Given the description of an element on the screen output the (x, y) to click on. 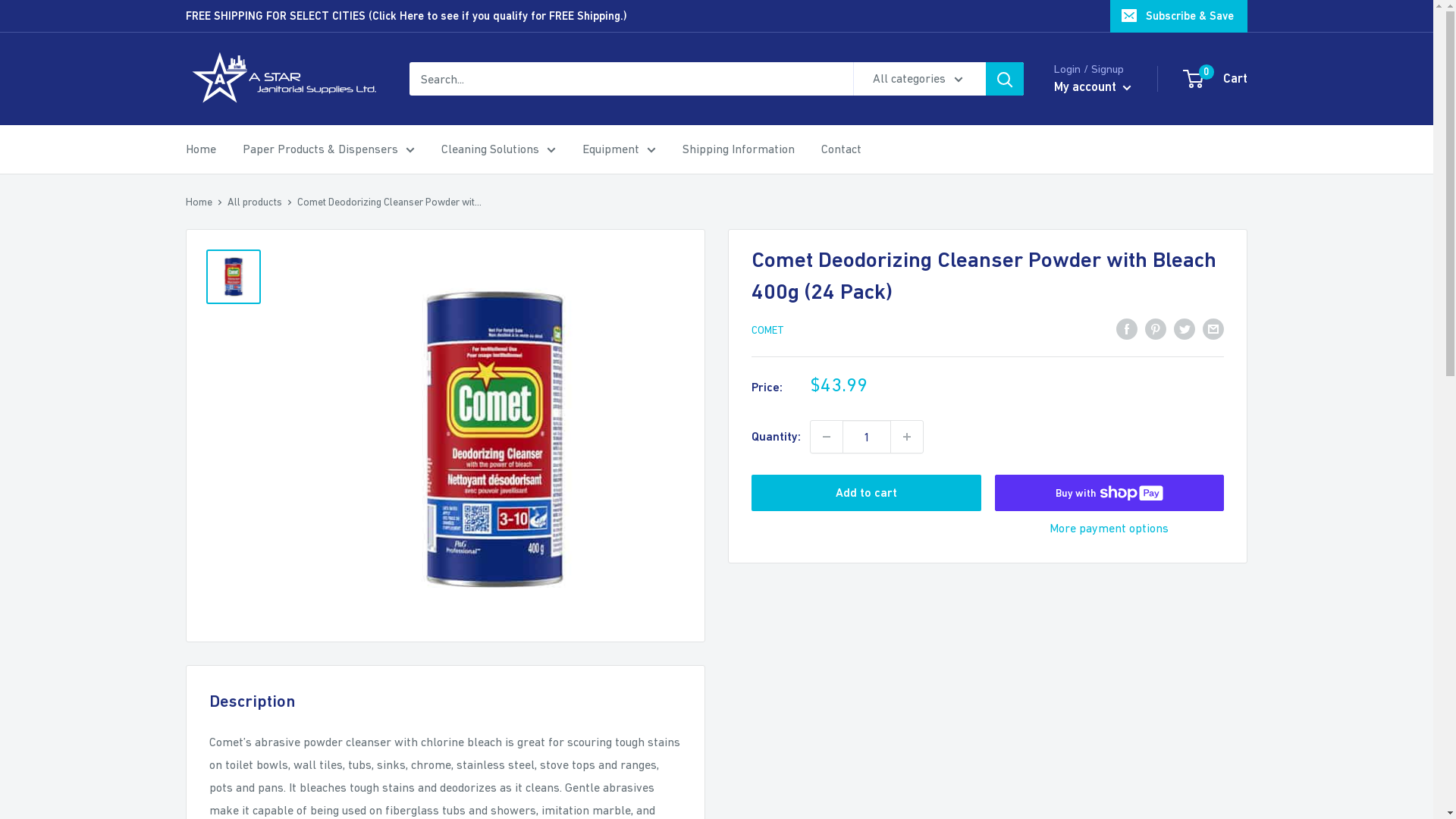
Cleaning Solutions Element type: text (498, 149)
Paper Products & Dispensers Element type: text (328, 149)
All products Element type: text (254, 201)
Home Element type: text (200, 149)
Increase quantity by 1 Element type: hover (906, 436)
COMET Element type: text (767, 329)
0
Cart Element type: text (1215, 78)
More payment options Element type: text (1109, 528)
Contact Element type: text (841, 149)
Home Element type: text (198, 201)
A Star Janitorial Supplies Element type: text (282, 78)
Decrease quantity by 1 Element type: hover (826, 436)
My account Element type: text (1092, 87)
Shipping Information Element type: text (738, 149)
Add to cart Element type: text (866, 492)
Equipment Element type: text (618, 149)
Subscribe & Save Element type: text (1178, 15)
